Given the description of an element on the screen output the (x, y) to click on. 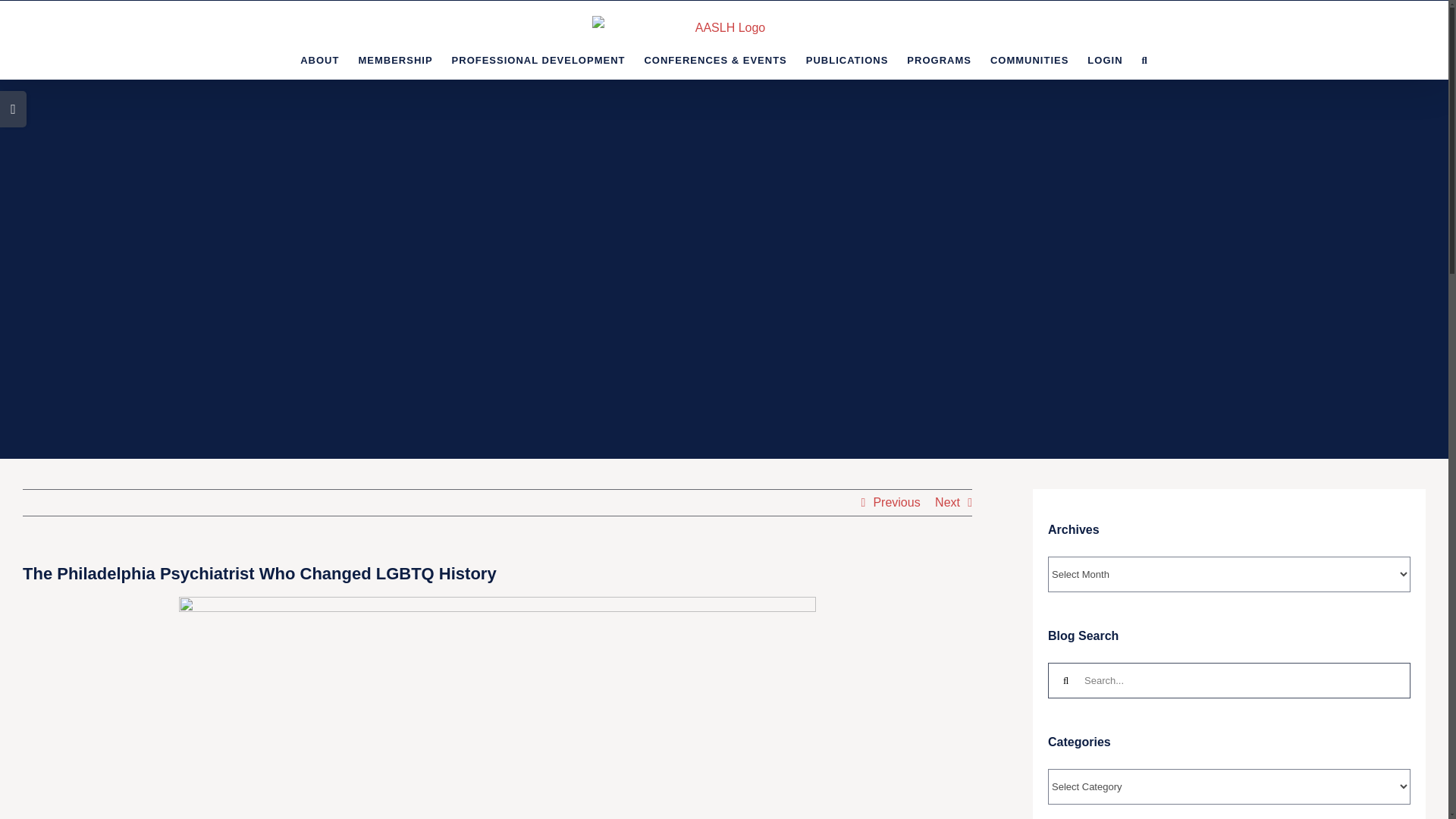
PUBLICATIONS (847, 59)
MEMBERSHIP (395, 59)
ABOUT (319, 59)
PROFESSIONAL DEVELOPMENT (538, 59)
